Given the description of an element on the screen output the (x, y) to click on. 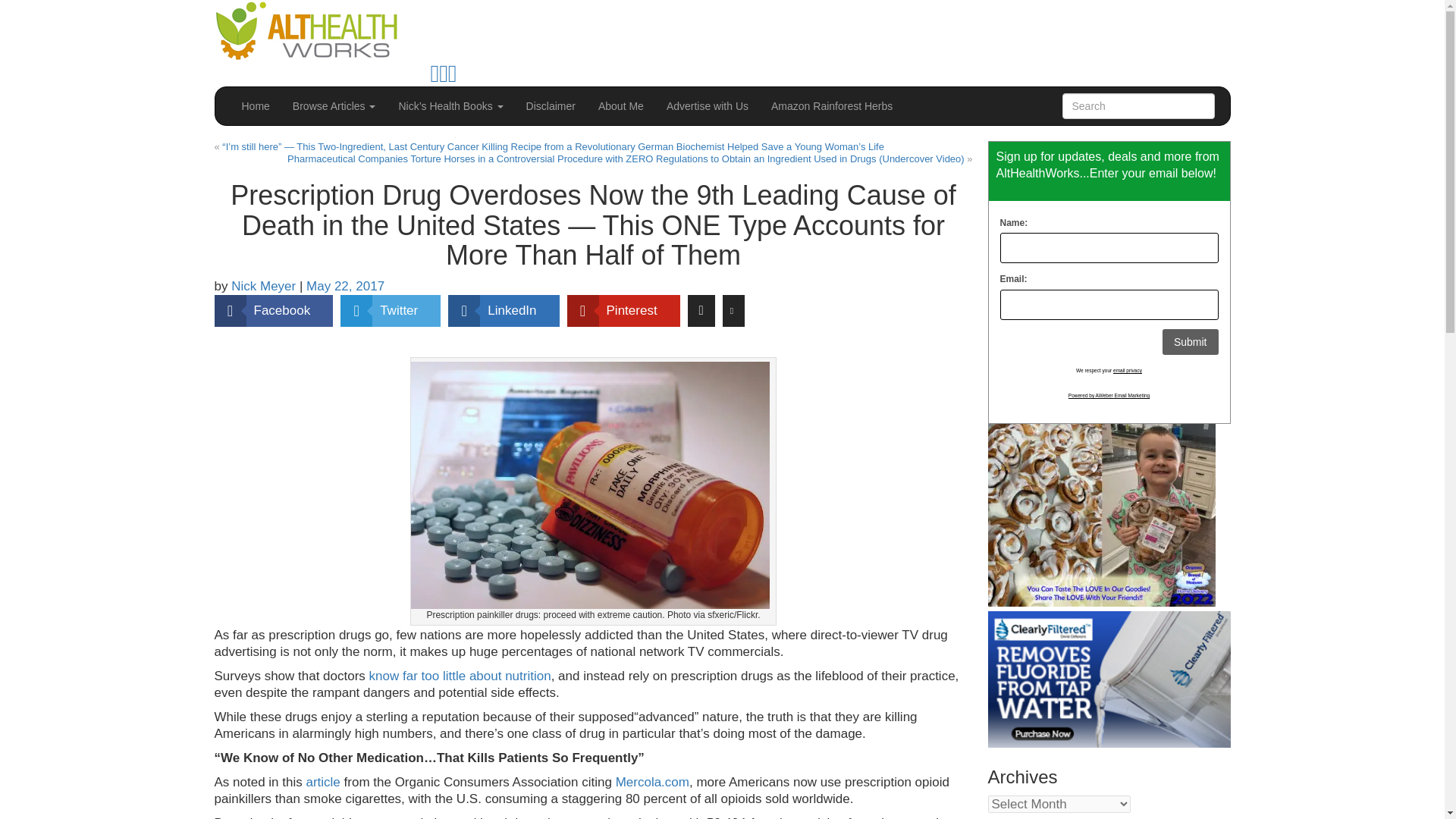
Amazon Rainforest Herbs (832, 105)
know far too little about nutrition (460, 676)
Disclaimer (550, 105)
Disclaimer (550, 105)
Home (255, 105)
article (322, 781)
About Me (620, 105)
Amazon Rainforest Herbs (832, 105)
Nick's Health Books (450, 105)
Advertise with Us (707, 105)
